Given the description of an element on the screen output the (x, y) to click on. 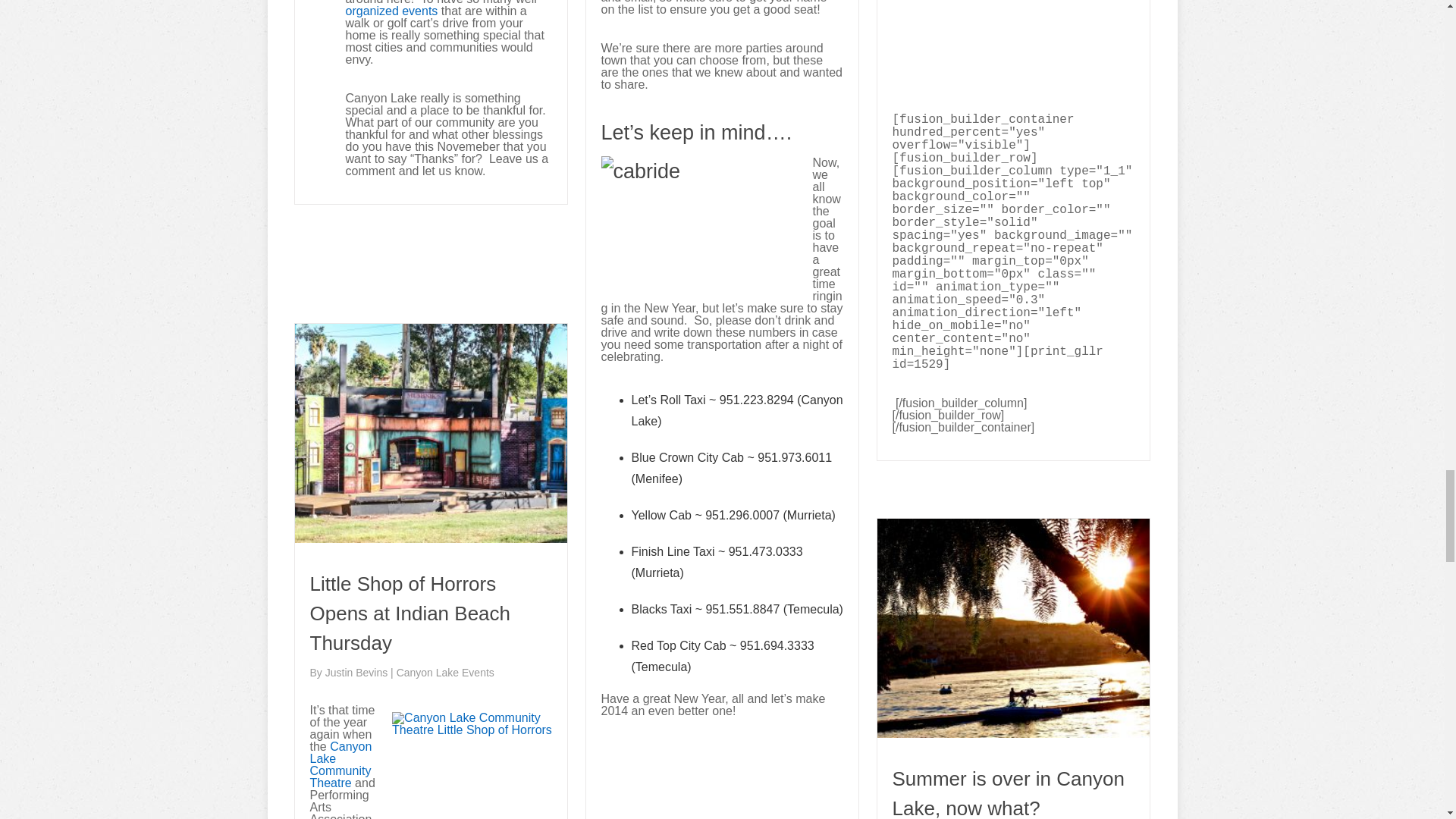
Canyon Lake Event Calendar (392, 10)
